Given the description of an element on the screen output the (x, y) to click on. 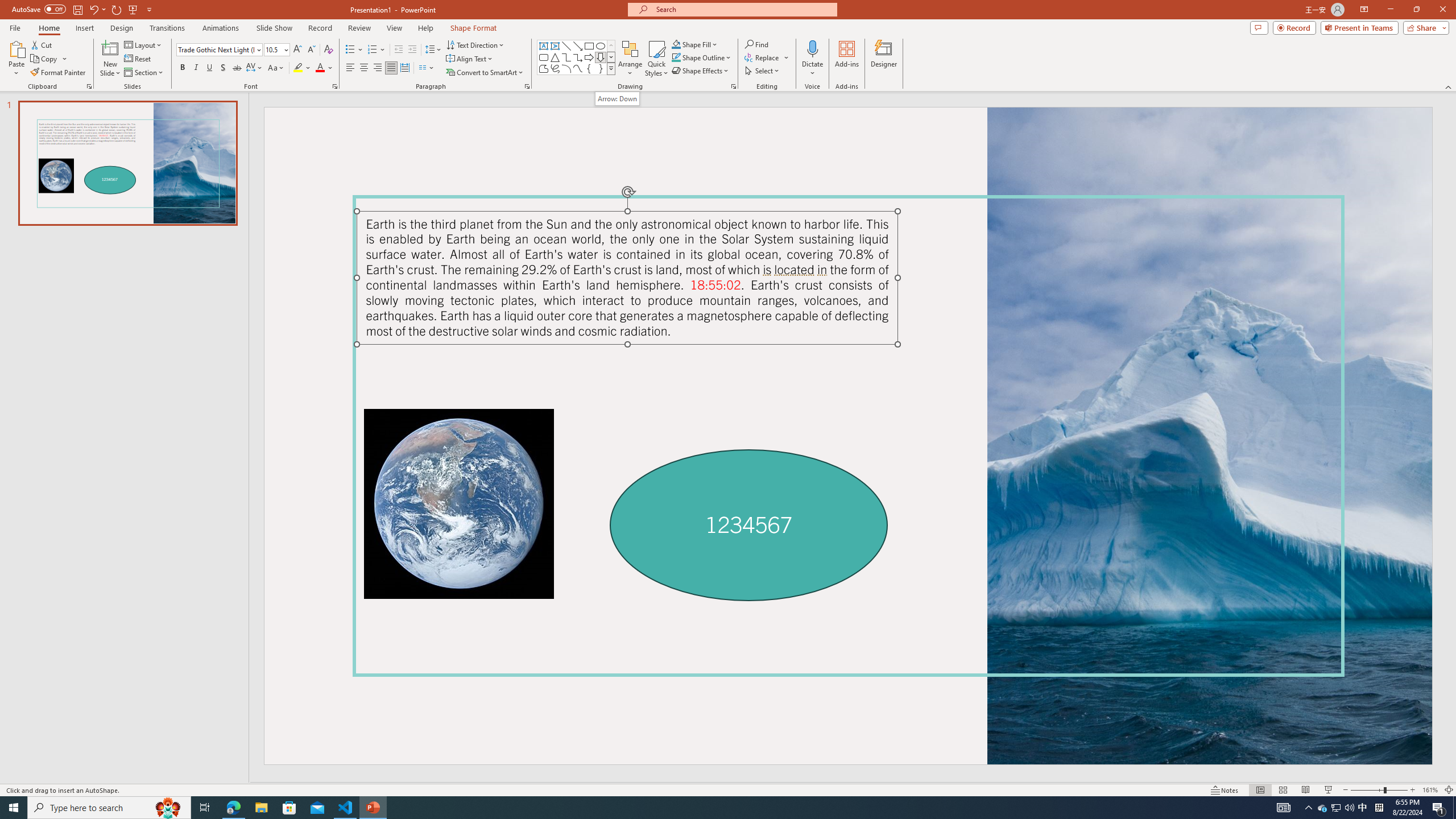
Shape Fill Aqua, Accent 2 (675, 44)
